Given the description of an element on the screen output the (x, y) to click on. 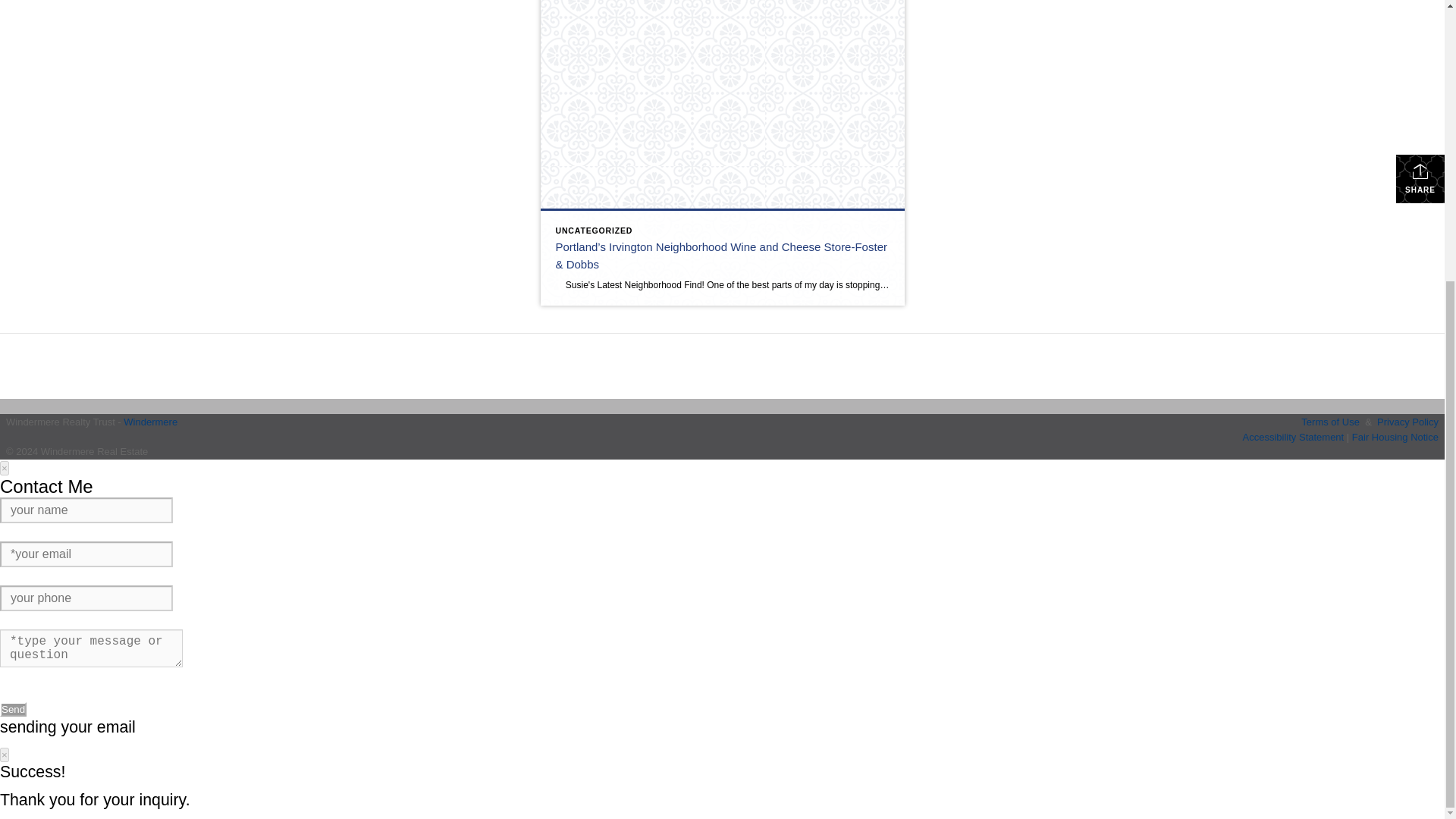
Overlook Area (207, 150)
The Pearl District Area (228, 13)
Goose Hollow Area (220, 73)
North Portland Neighborhoods (252, 138)
King's Heights Area (221, 48)
Northwest District Area (231, 7)
West Hills Area (209, 22)
Home (130, 270)
SW Portland Neighborhoods (245, 35)
South Waterfront Area (228, 112)
